Given the description of an element on the screen output the (x, y) to click on. 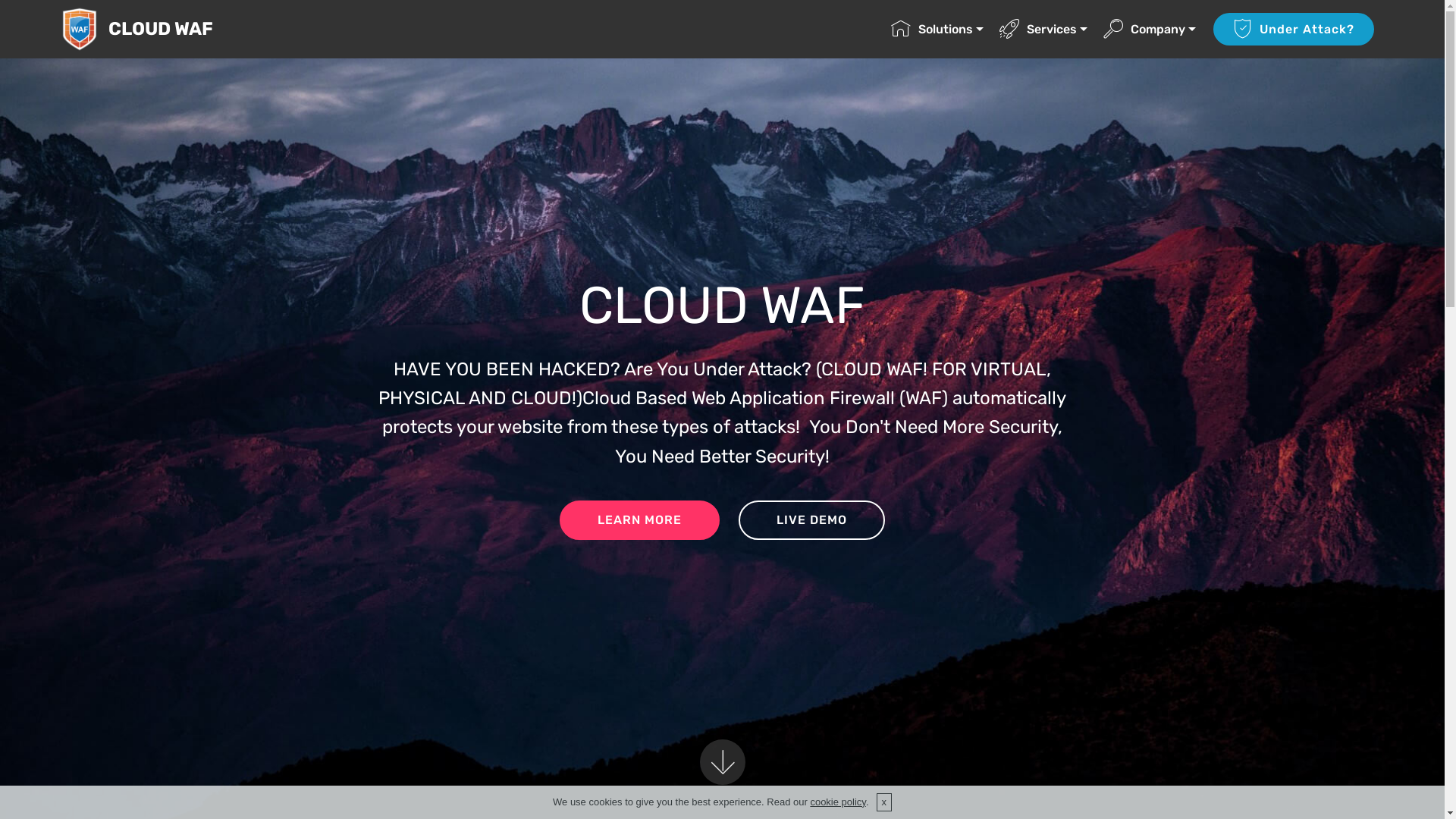
Solutions Element type: text (937, 28)
CLOUD WAF Element type: text (172, 28)
Services Element type: text (1043, 28)
Company Element type: text (1149, 28)
LIVE DEMO Element type: text (811, 519)
x Element type: text (884, 802)
LEARN MORE Element type: text (639, 519)
cookie policy Element type: text (837, 801)
Under Attack? Element type: text (1293, 28)
